Given the description of an element on the screen output the (x, y) to click on. 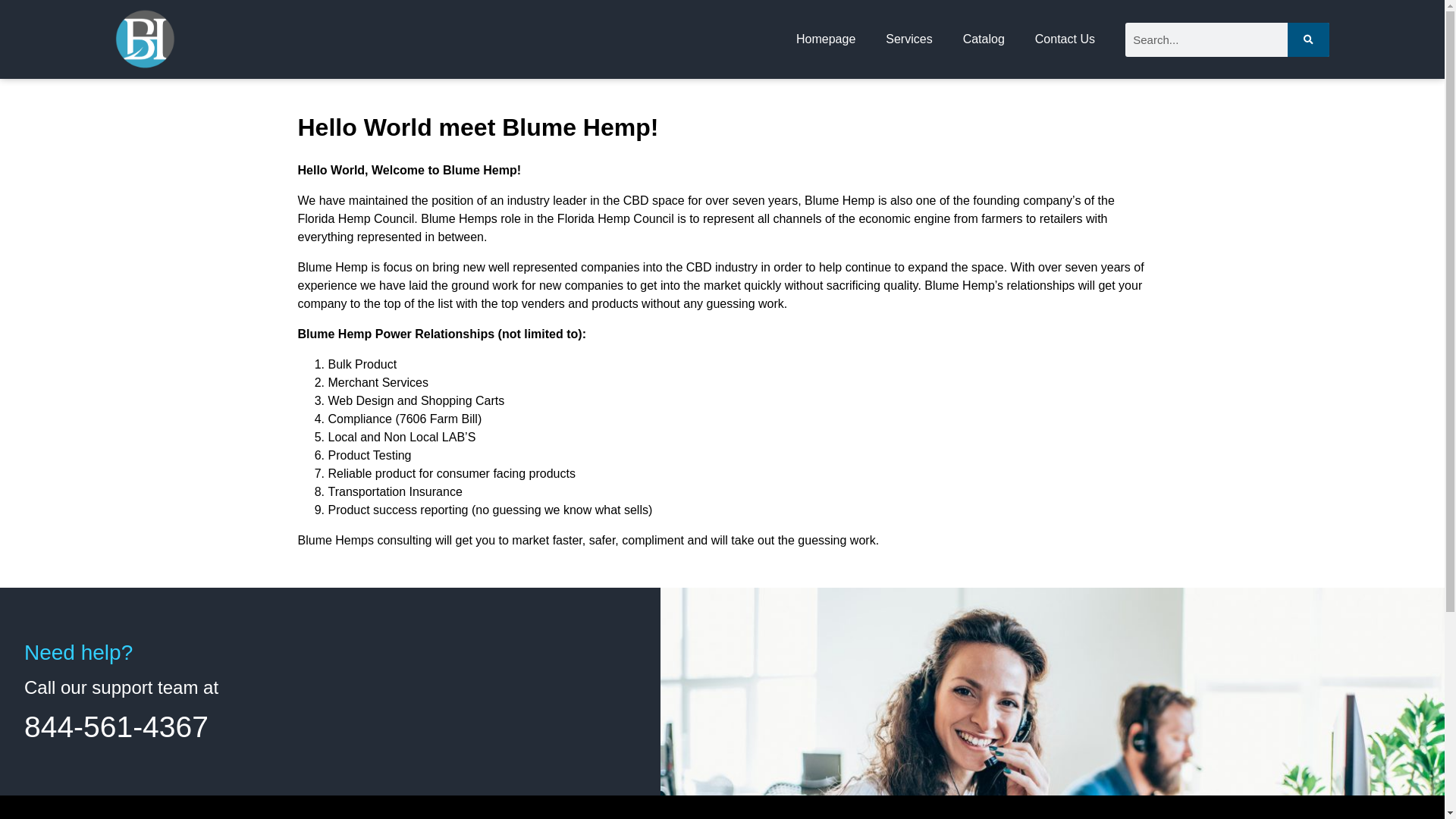
Catalog (983, 39)
Contact Us (1064, 39)
Homepage (825, 39)
Services (908, 39)
